Given the description of an element on the screen output the (x, y) to click on. 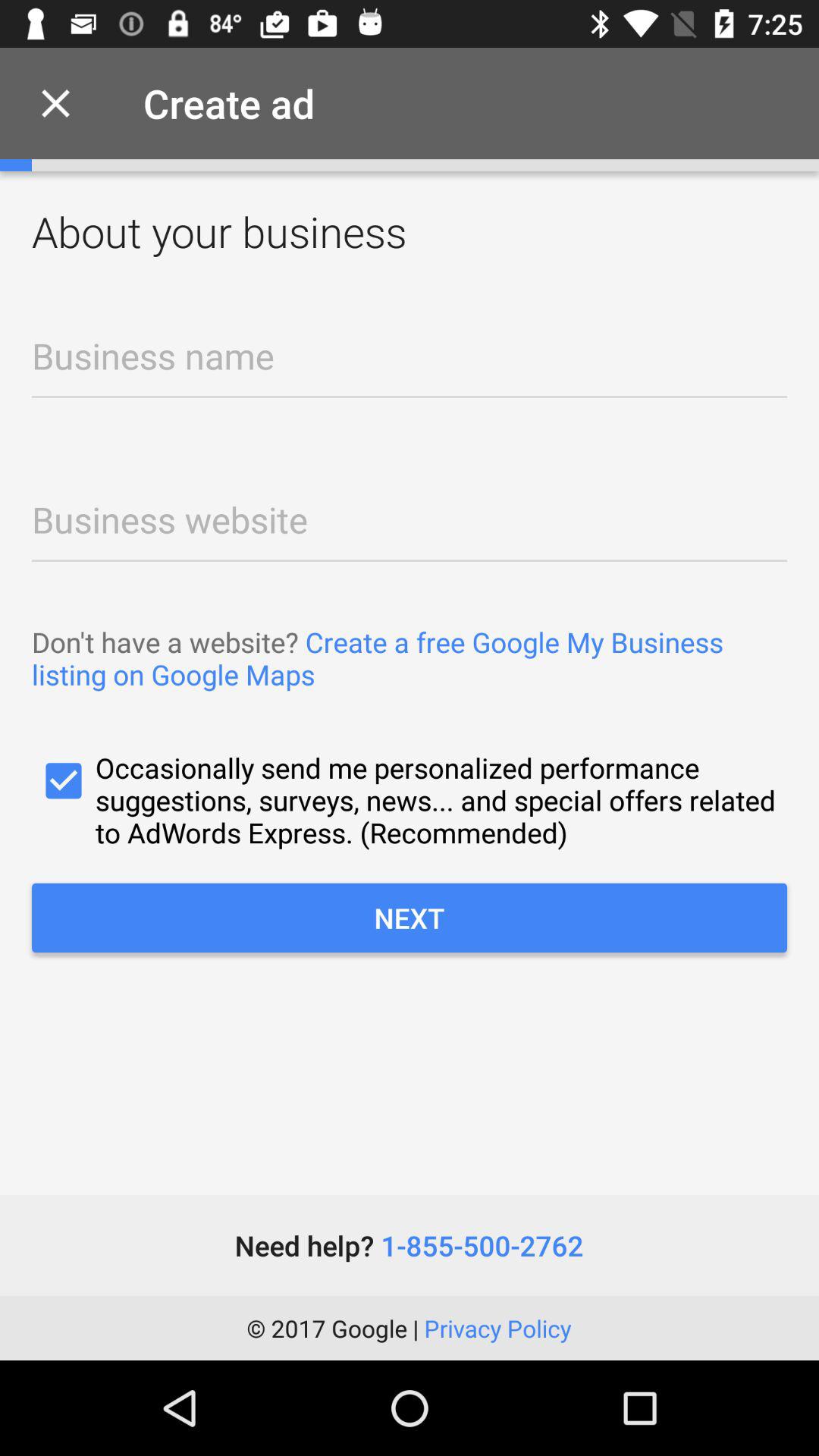
choose item above the occasionally send me item (409, 658)
